Given the description of an element on the screen output the (x, y) to click on. 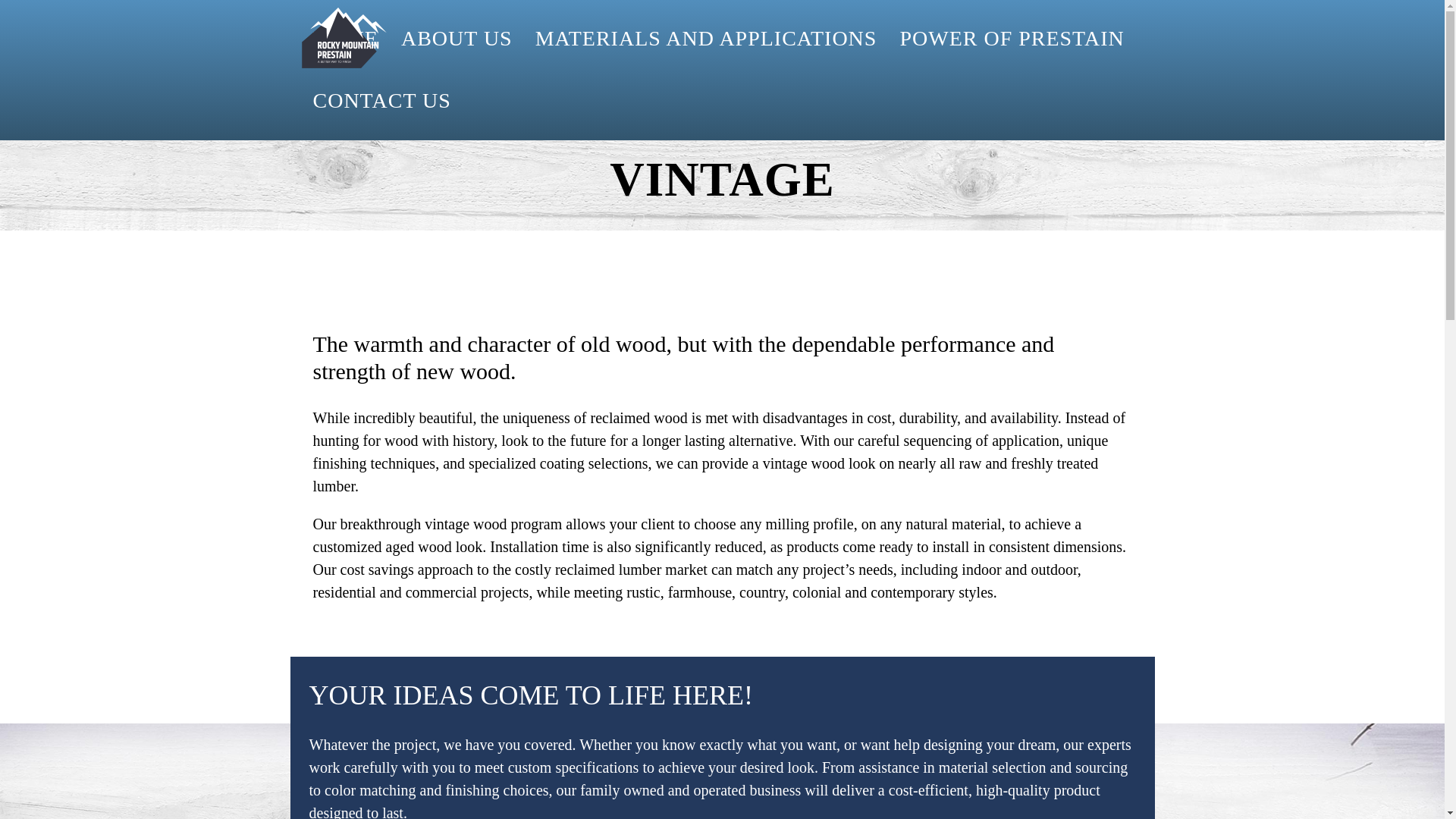
POWER OF PRESTAIN (1011, 38)
CONTACT US (376, 100)
HOME (345, 38)
MATERIALS AND APPLICATIONS (706, 38)
ABOUT US (457, 38)
